Given the description of an element on the screen output the (x, y) to click on. 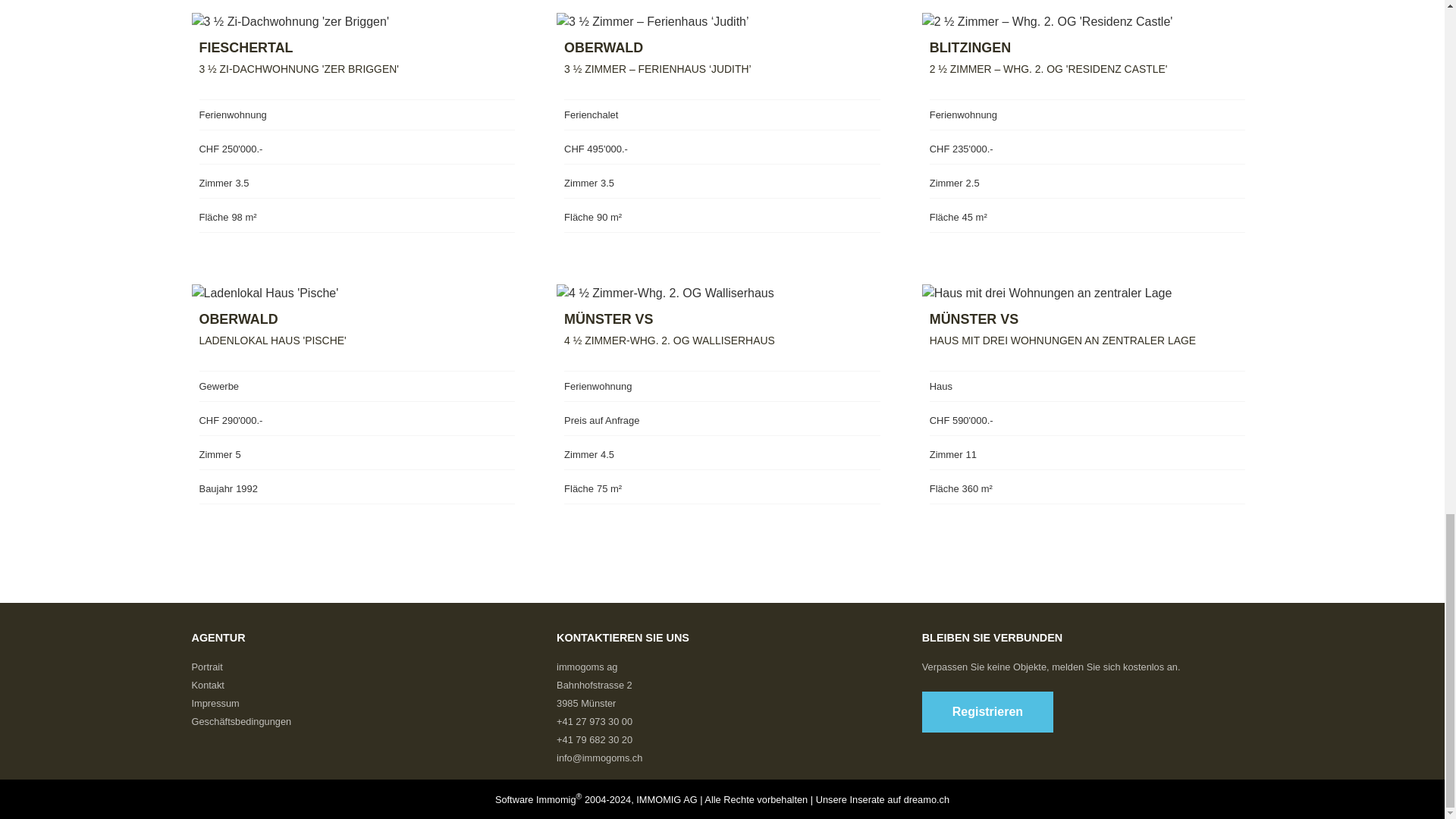
dreamo.ch (926, 799)
Impressum (214, 703)
Registrieren (986, 711)
Portrait (206, 666)
Kontakt (207, 685)
